Given the description of an element on the screen output the (x, y) to click on. 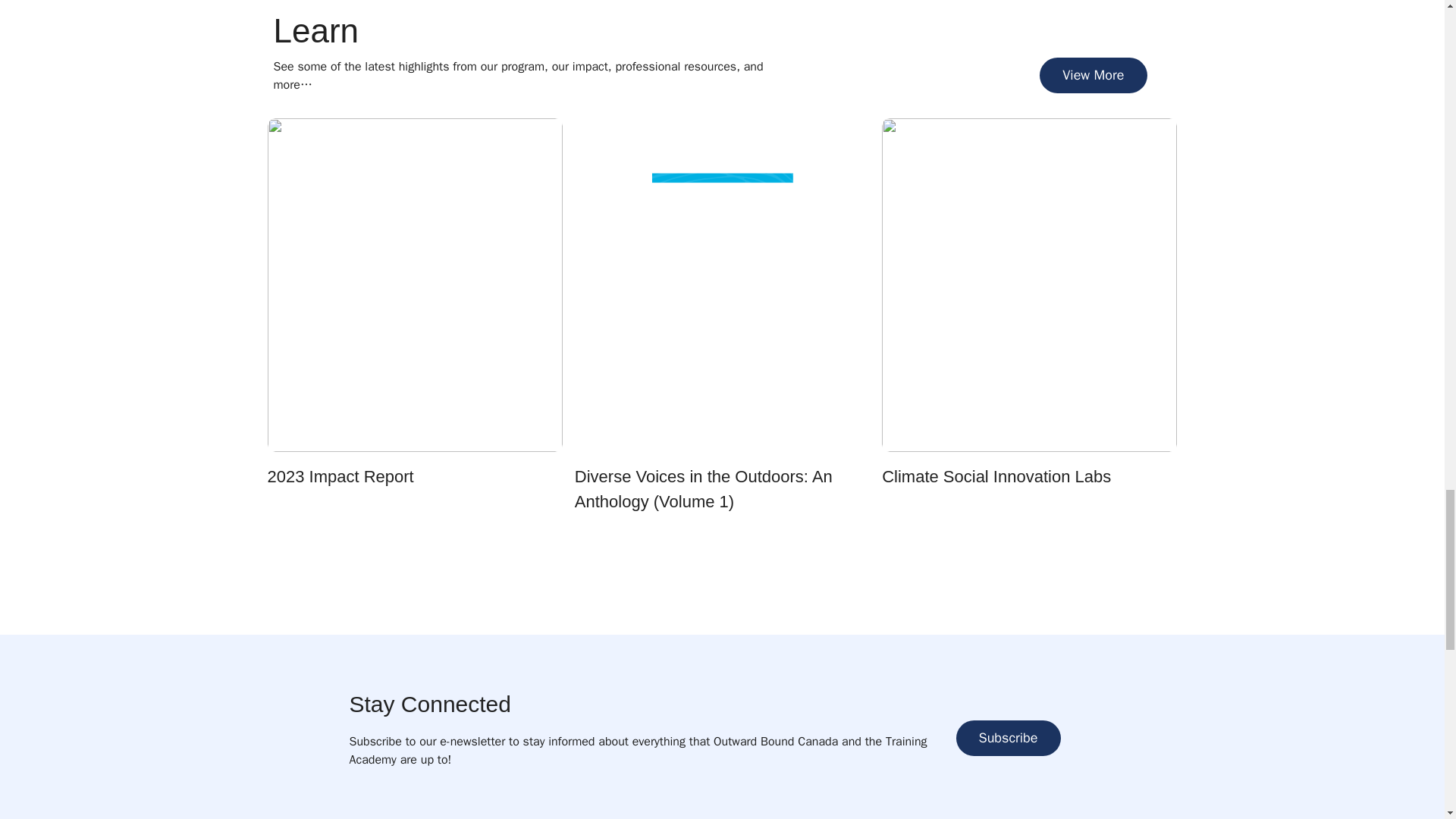
Subscribe (1007, 737)
View More (1093, 75)
Climate Social Innovation Labs (996, 476)
2023 Impact Report (339, 476)
